Given the description of an element on the screen output the (x, y) to click on. 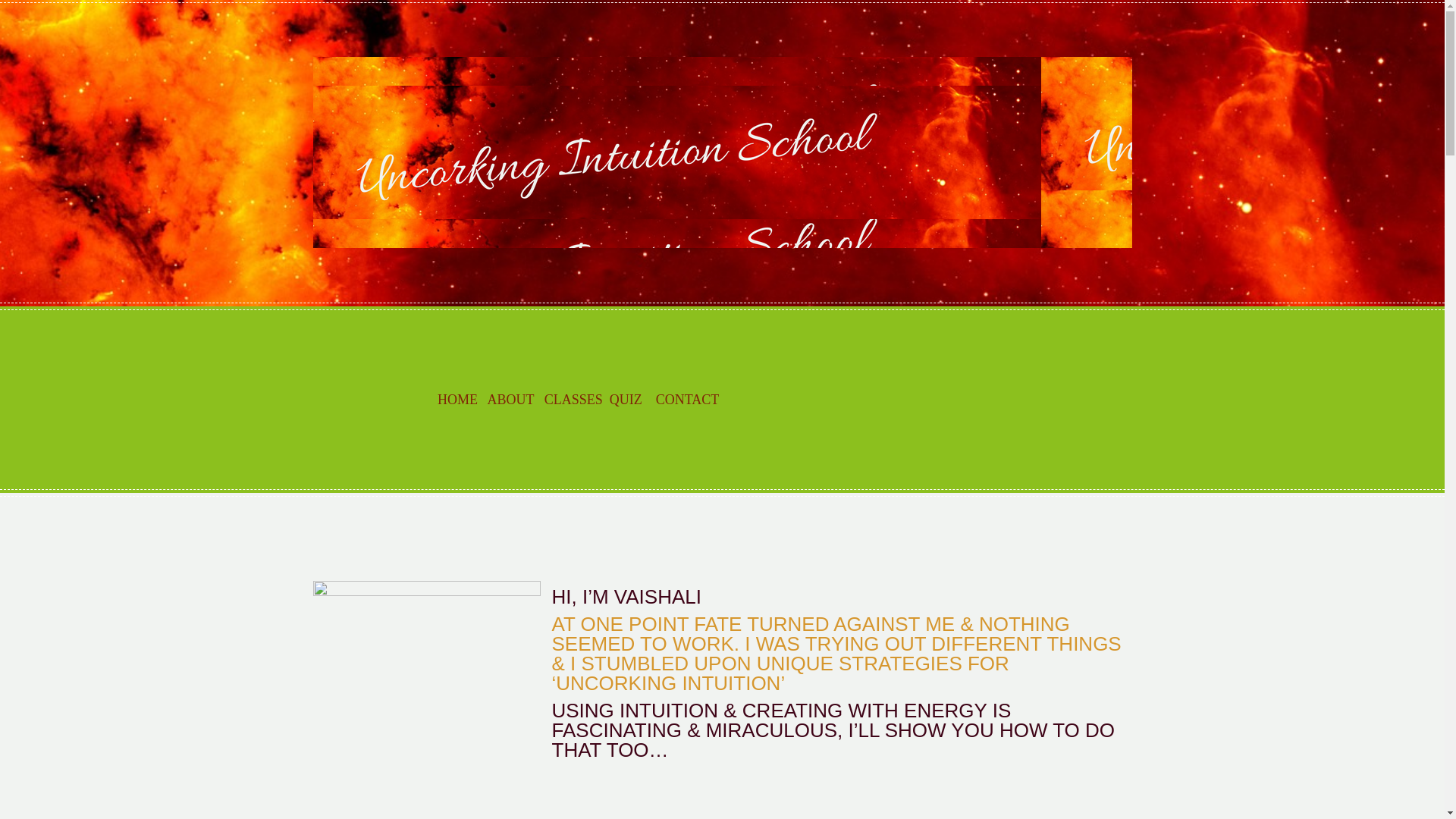
ABOUT (510, 399)
HOME (457, 399)
CONTACT (687, 399)
QUIZ (626, 399)
CLASSES (573, 399)
